Given the description of an element on the screen output the (x, y) to click on. 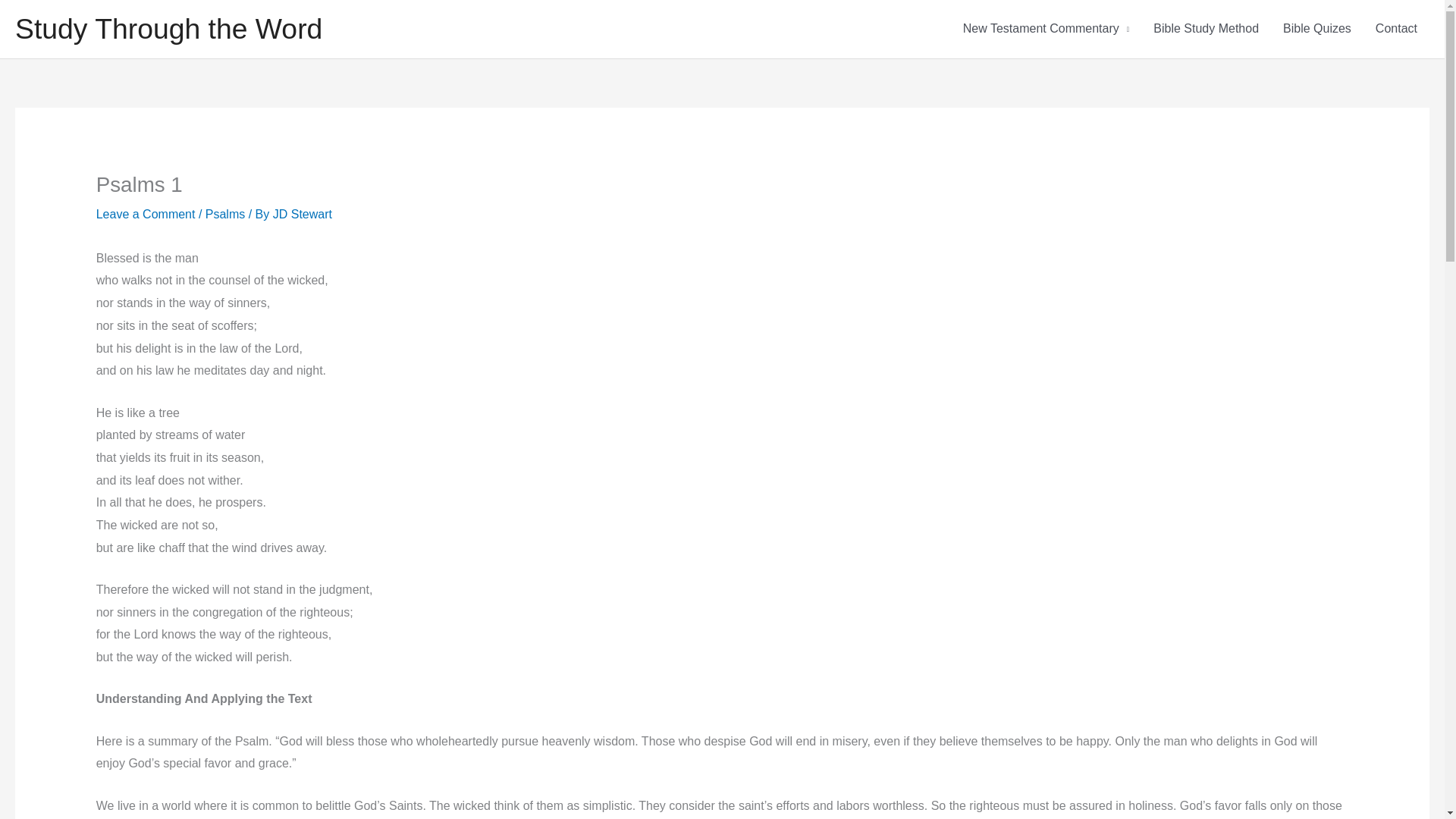
View all posts by JD Stewart (302, 214)
New Testament Commentary (1045, 28)
Bible Quizes (1316, 28)
Leave a Comment (145, 214)
Contact (1395, 28)
Study Through the Word (167, 29)
Psalms (224, 214)
Bible Study Method (1206, 28)
JD Stewart (302, 214)
